Given the description of an element on the screen output the (x, y) to click on. 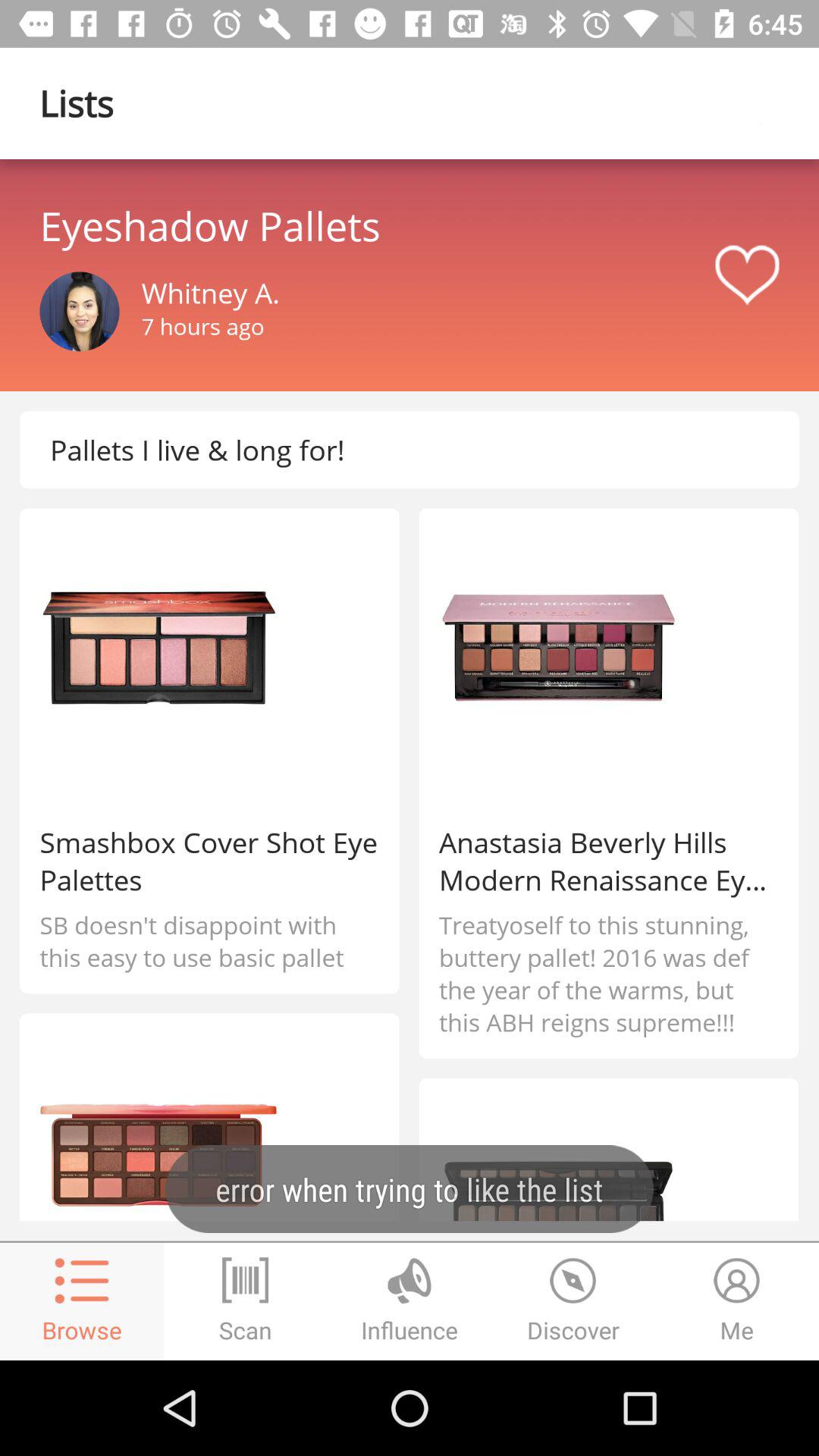
like (747, 275)
